Given the description of an element on the screen output the (x, y) to click on. 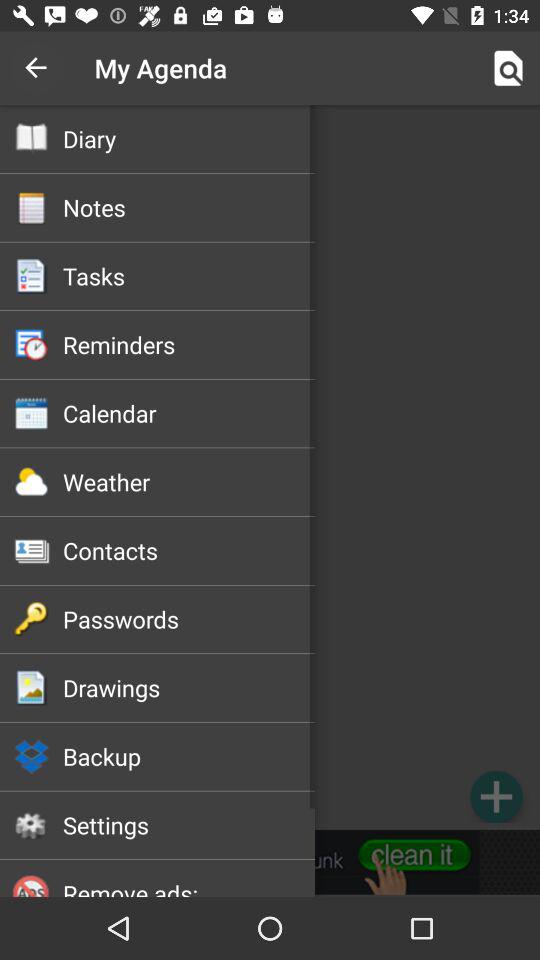
scroll to the passwords (188, 619)
